Given the description of an element on the screen output the (x, y) to click on. 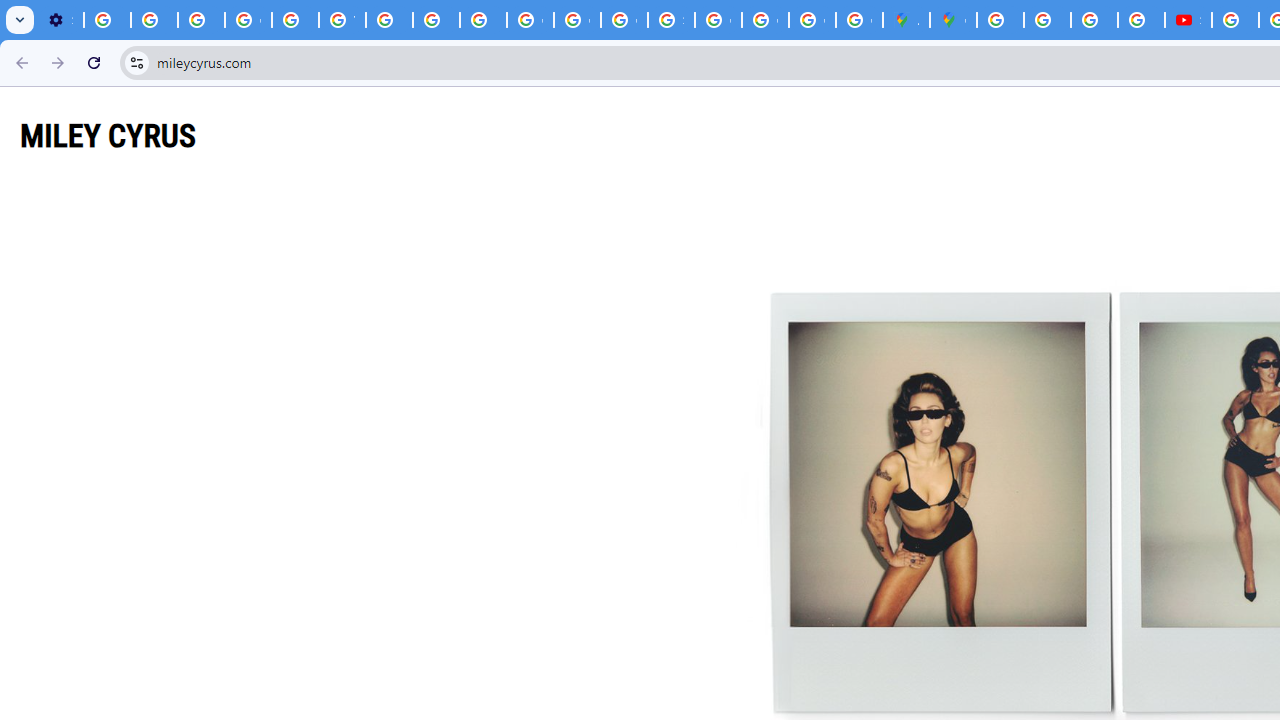
Sign in - Google Accounts (671, 20)
Blogger Policies and Guidelines - Transparency Center (999, 20)
